Given the description of an element on the screen output the (x, y) to click on. 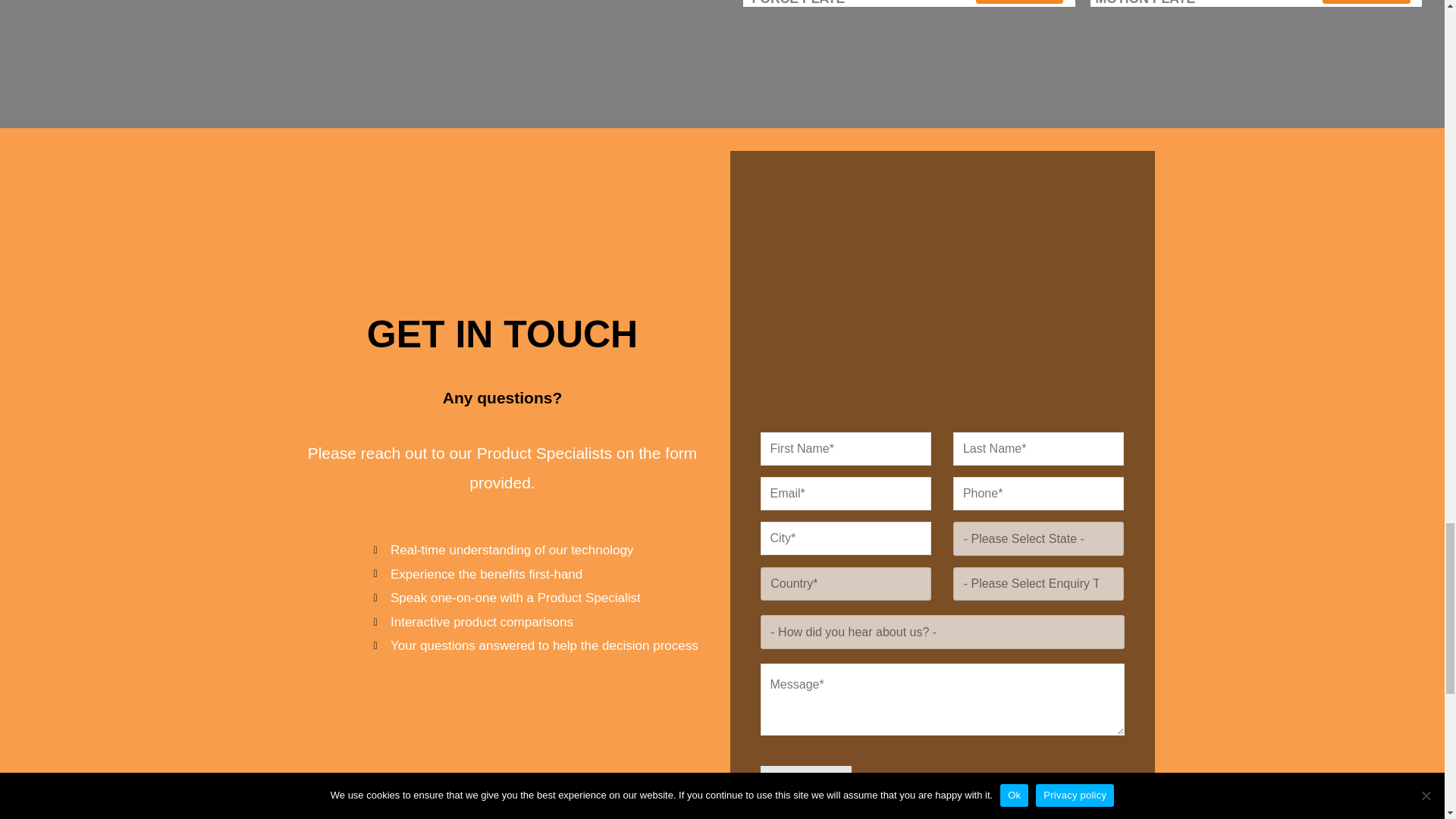
SUBMIT (805, 790)
